Given the description of an element on the screen output the (x, y) to click on. 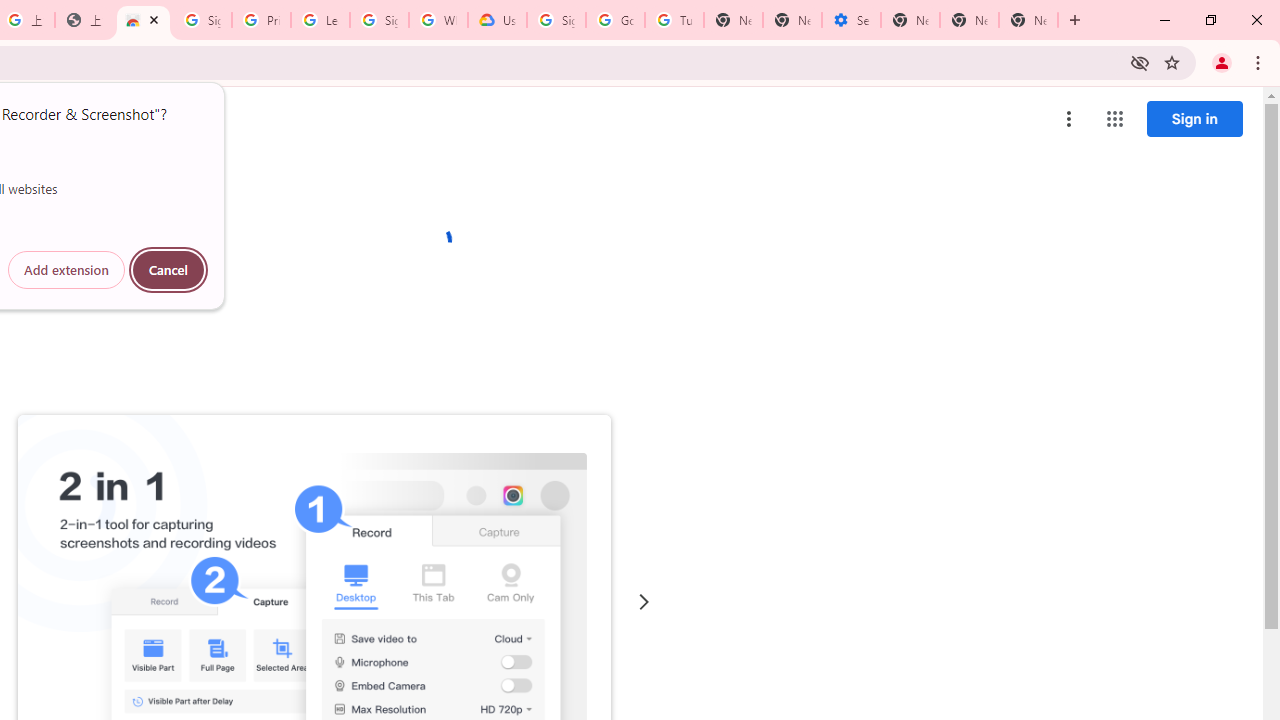
Who are Google's partners? - Privacy and conditions - Google (438, 20)
More options menu (1069, 118)
Turn cookies on or off - Computer - Google Account Help (674, 20)
Sign in - Google Accounts (556, 20)
Google Account Help (615, 20)
Sign in - Google Accounts (201, 20)
Next slide (643, 601)
Awesome Screen Recorder & Screenshot - Chrome Web Store (142, 20)
